Given the description of an element on the screen output the (x, y) to click on. 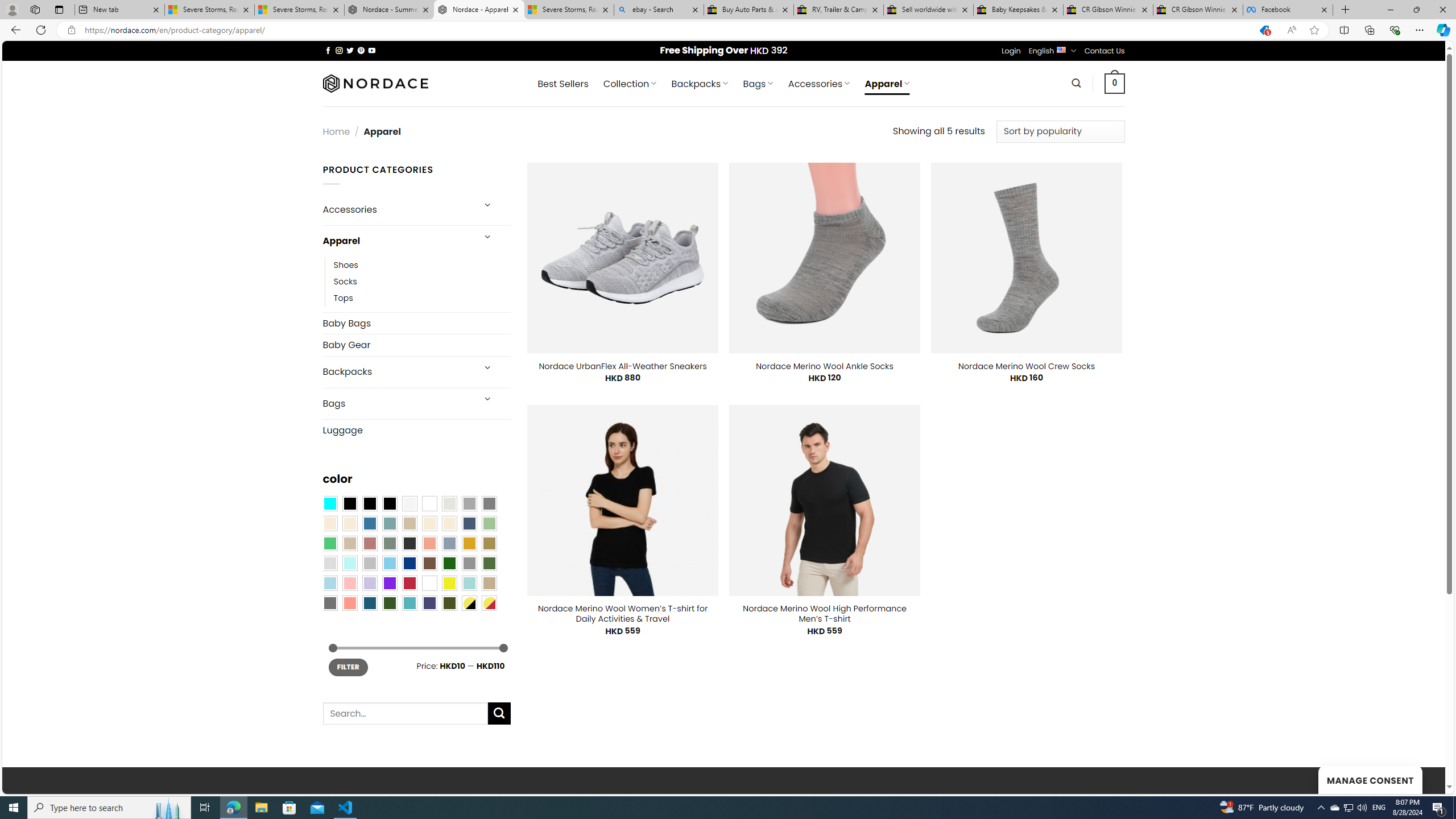
Baby Bags (416, 323)
Nordace Merino Wool Ankle Socks (824, 365)
Gray (468, 562)
Beige (329, 522)
White (429, 582)
Backpacks (397, 372)
Dusty Blue (449, 542)
Emerald Green (329, 542)
